Given the description of an element on the screen output the (x, y) to click on. 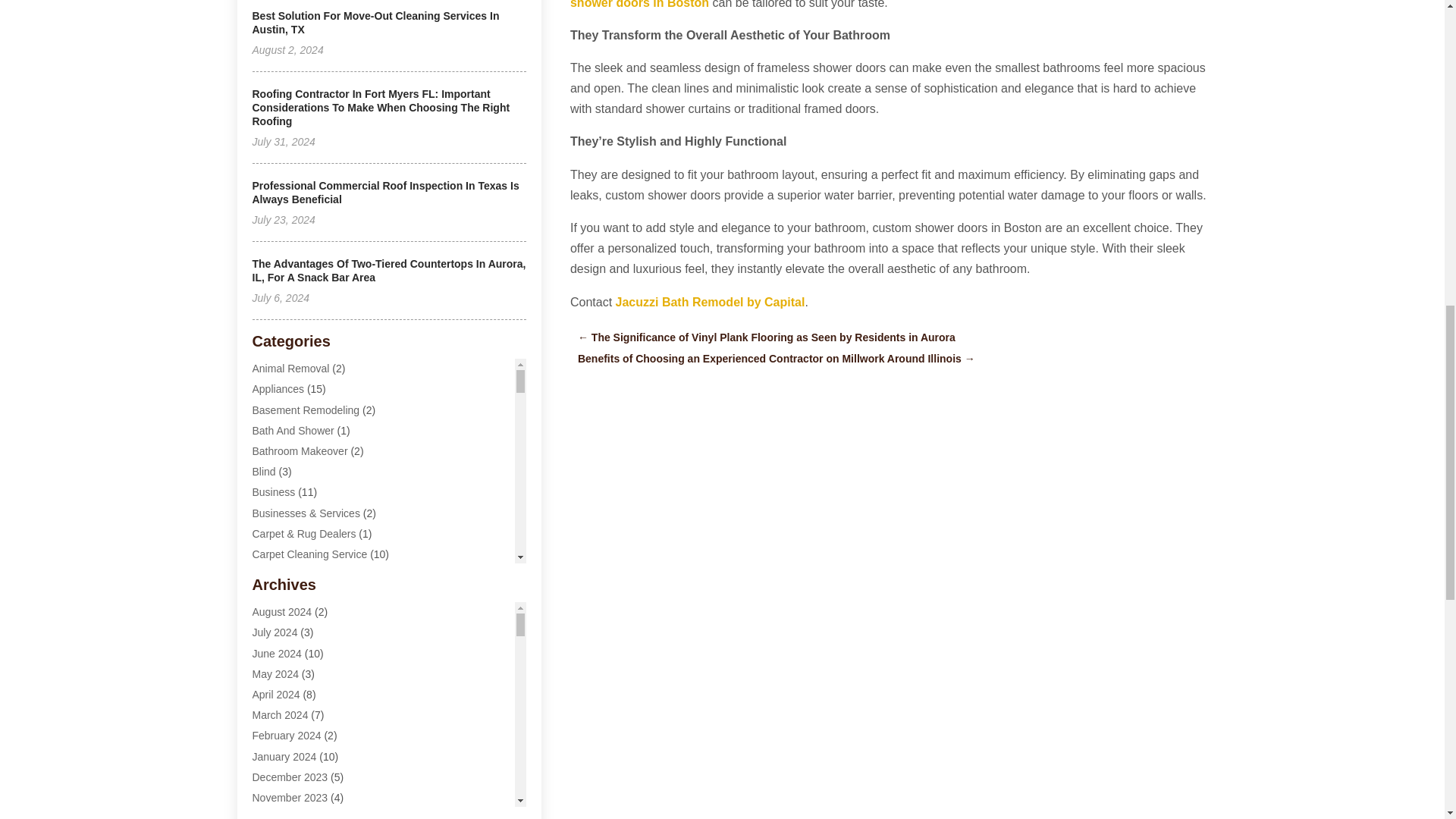
Business (273, 491)
Bath And Shower (292, 430)
Appliances (277, 388)
Custom Home Builder (303, 739)
Cleaning Tips And Tools (308, 677)
Cleaning (272, 615)
Best Solution For Move-Out Cleaning Services In Austin, TX (375, 22)
Construction And Maintenance (323, 698)
Basement Remodeling (305, 410)
